Given the description of an element on the screen output the (x, y) to click on. 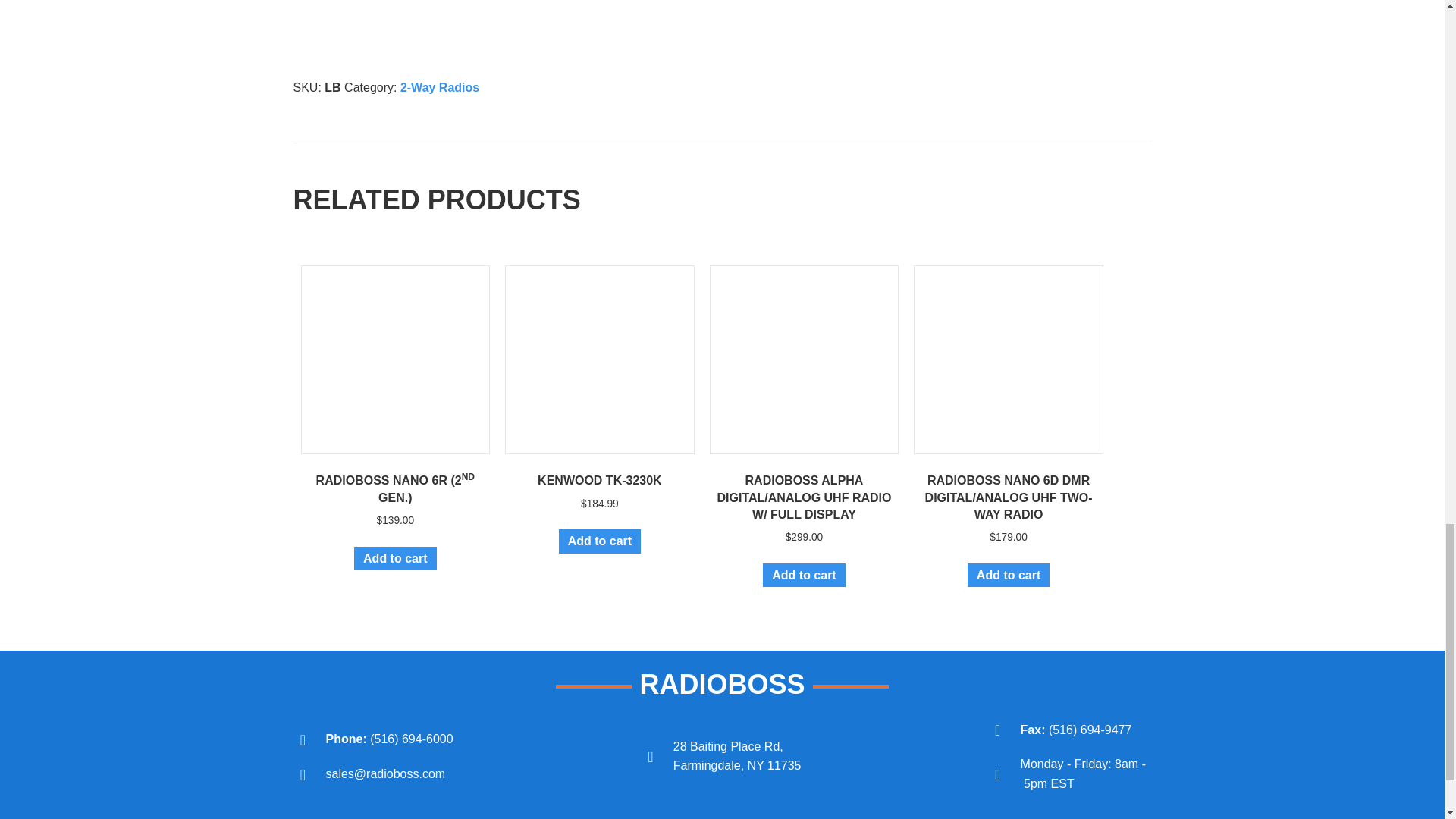
Add to cart (1008, 575)
RADIOBOSS (721, 684)
Add to cart (394, 558)
2-Way Radios (439, 87)
Add to cart (599, 540)
Add to cart (803, 575)
